Given the description of an element on the screen output the (x, y) to click on. 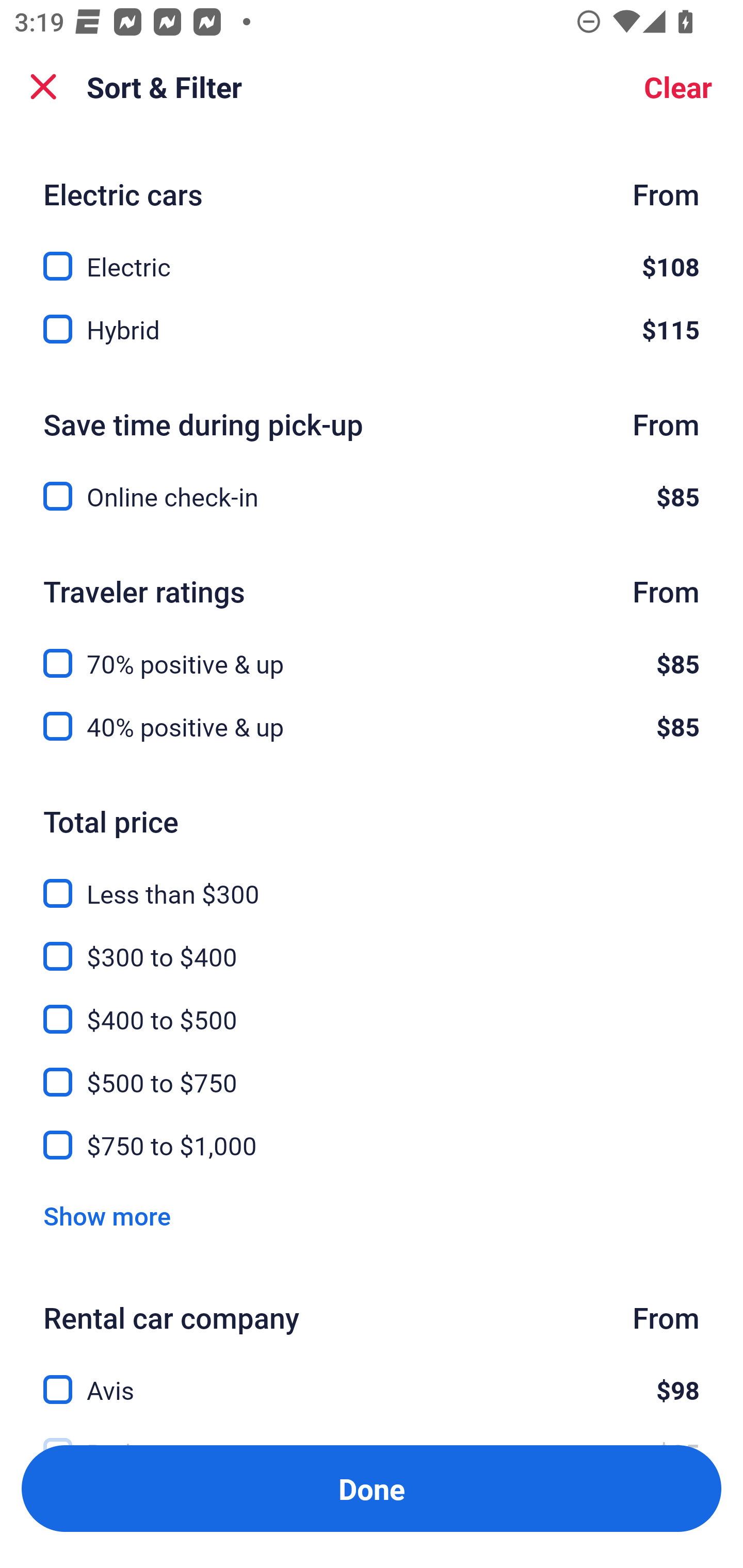
Close Sort and Filter (43, 86)
Clear (677, 86)
Electric, $108 Electric $108 (371, 254)
Hybrid, $115 Hybrid $115 (371, 329)
Online check-in, $85 Online check-in $85 (371, 496)
70% positive & up, $85 70% positive & up $85 (371, 651)
40% positive & up, $85 40% positive & up $85 (371, 726)
Less than $300, Less than $300 (371, 881)
$300 to $400, $300 to $400 (371, 945)
$400 to $500, $400 to $500 (371, 1007)
$500 to $750, $500 to $750 (371, 1070)
$750 to $1,000, $750 to $1,000 (371, 1145)
Show more Show more Link (106, 1215)
Avis, $98 Avis $98 (371, 1377)
Apply and close Sort and Filter Done (371, 1488)
